Given the description of an element on the screen output the (x, y) to click on. 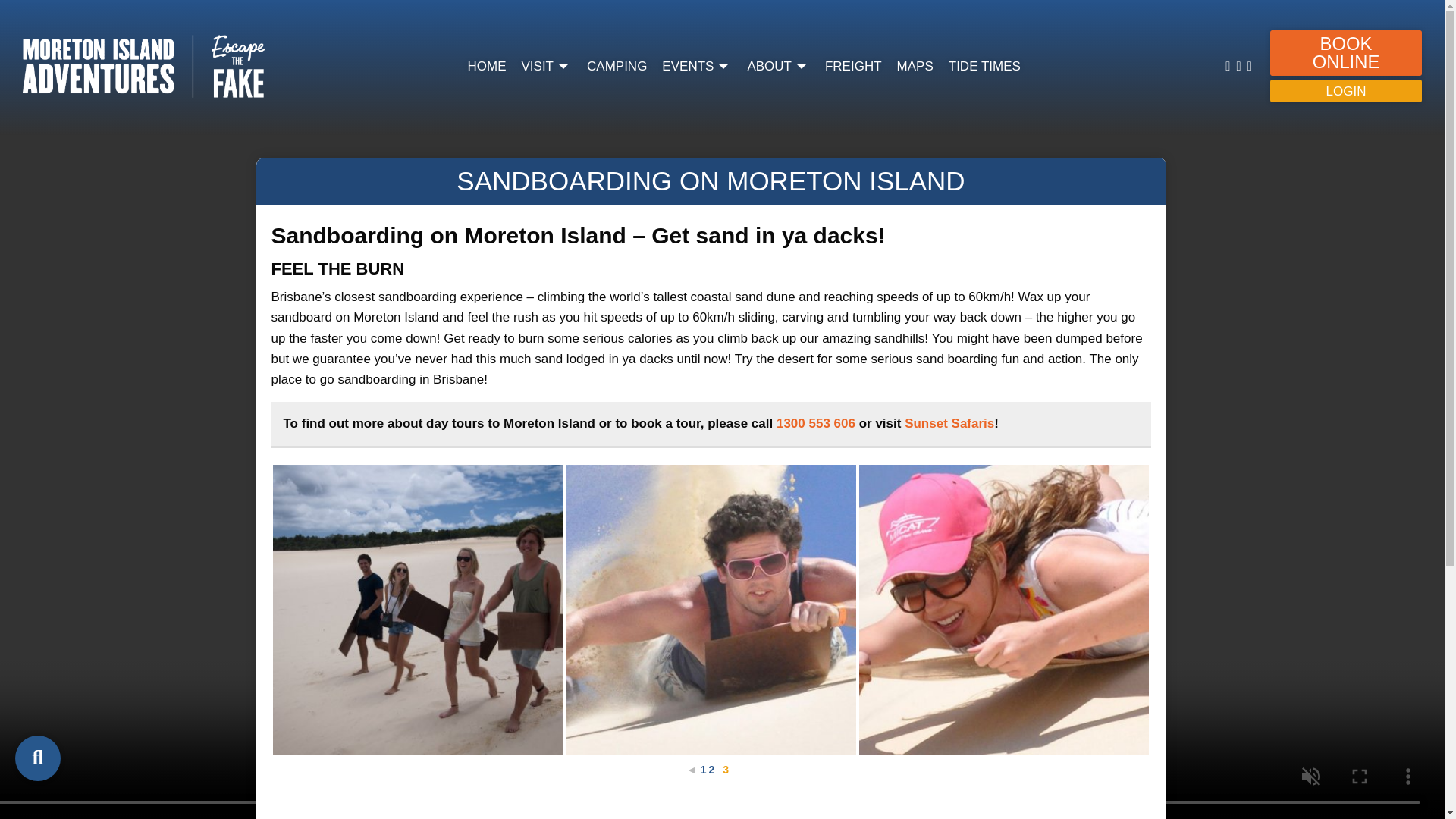
Moreton Island Adventures (143, 65)
Sandboarding-action-1000x600 (711, 610)
MAPS (914, 66)
EVENTS (697, 66)
Sandboarding-MICAT-cap-1000x600 (1004, 610)
HOME (486, 66)
FREIGHT (853, 66)
VISIT (546, 66)
Sandboarding (418, 610)
TIDE TIMES (984, 66)
